Given the description of an element on the screen output the (x, y) to click on. 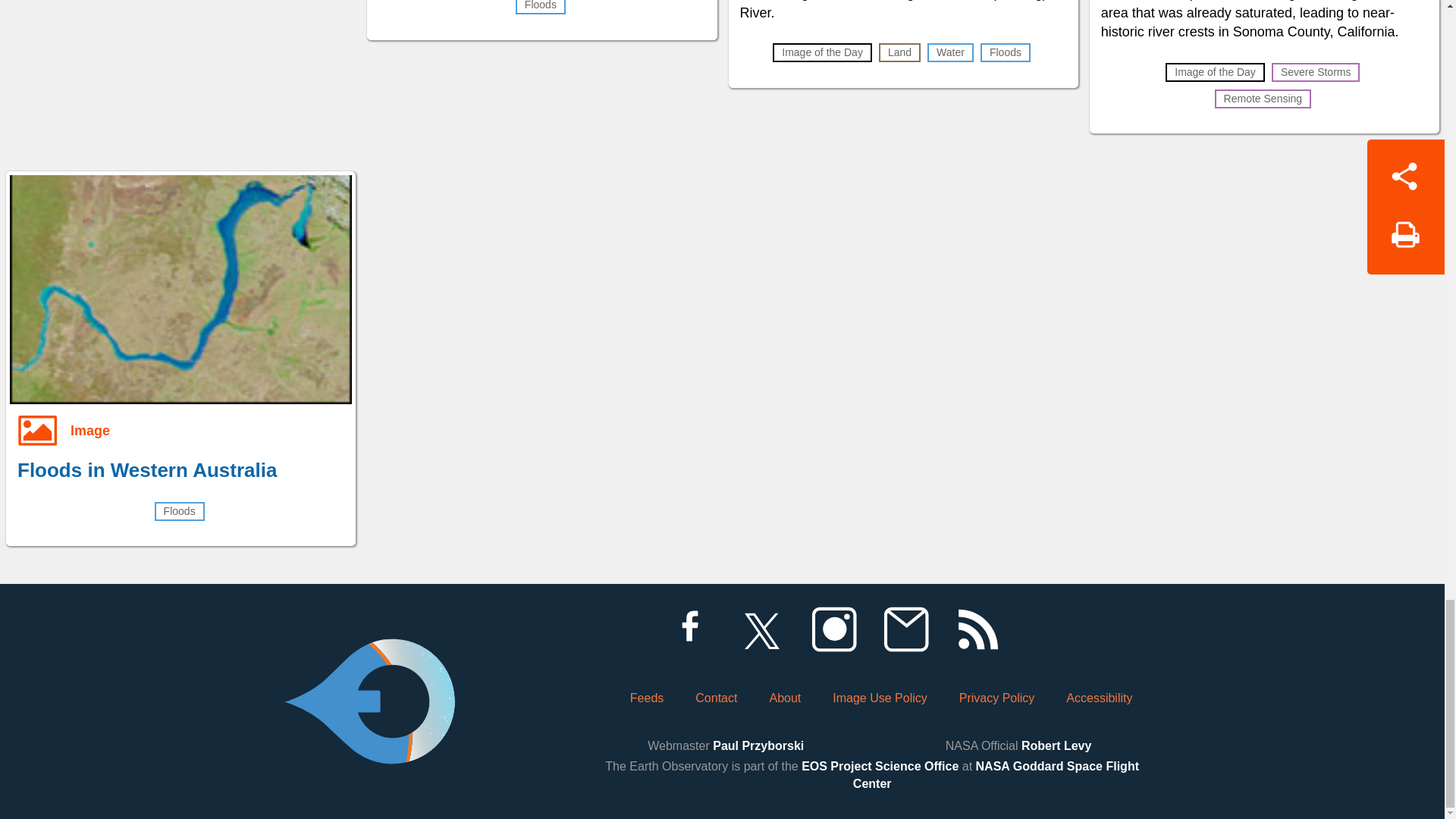
Earth Observatory (369, 659)
Subscribe (905, 629)
Twitter (761, 629)
Facebook (689, 629)
RSS (977, 629)
Instagram (833, 629)
